Given the description of an element on the screen output the (x, y) to click on. 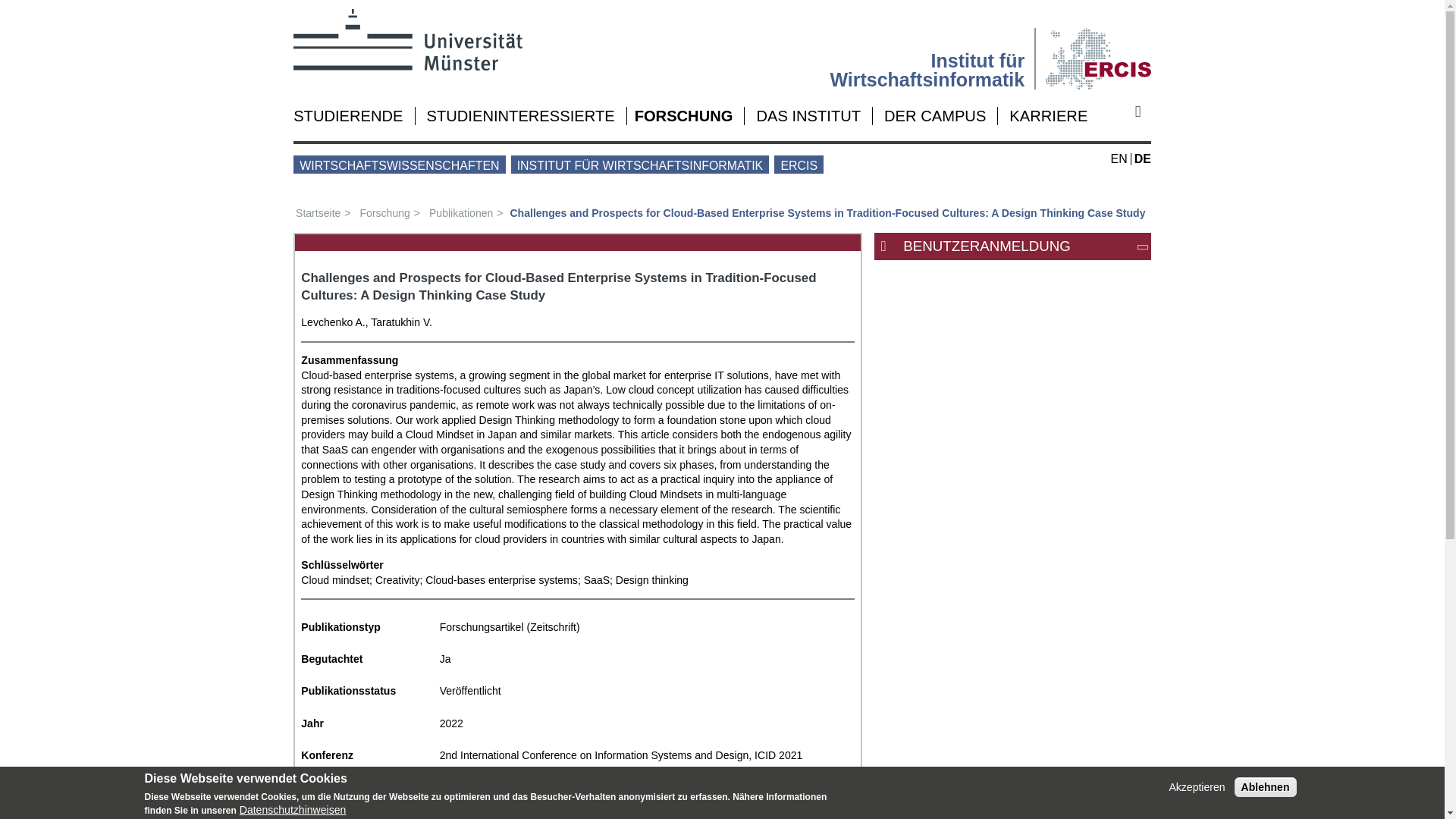
STUDIERENDE (348, 115)
Suche (1143, 111)
KARRIERE (1048, 115)
Forschung (389, 213)
WIRTSCHAFTSWISSENSCHAFTEN (399, 164)
FORSCHUNG (683, 115)
ERCIS (1098, 49)
English (1118, 158)
Suche (1143, 111)
Startseite (324, 213)
